Given the description of an element on the screen output the (x, y) to click on. 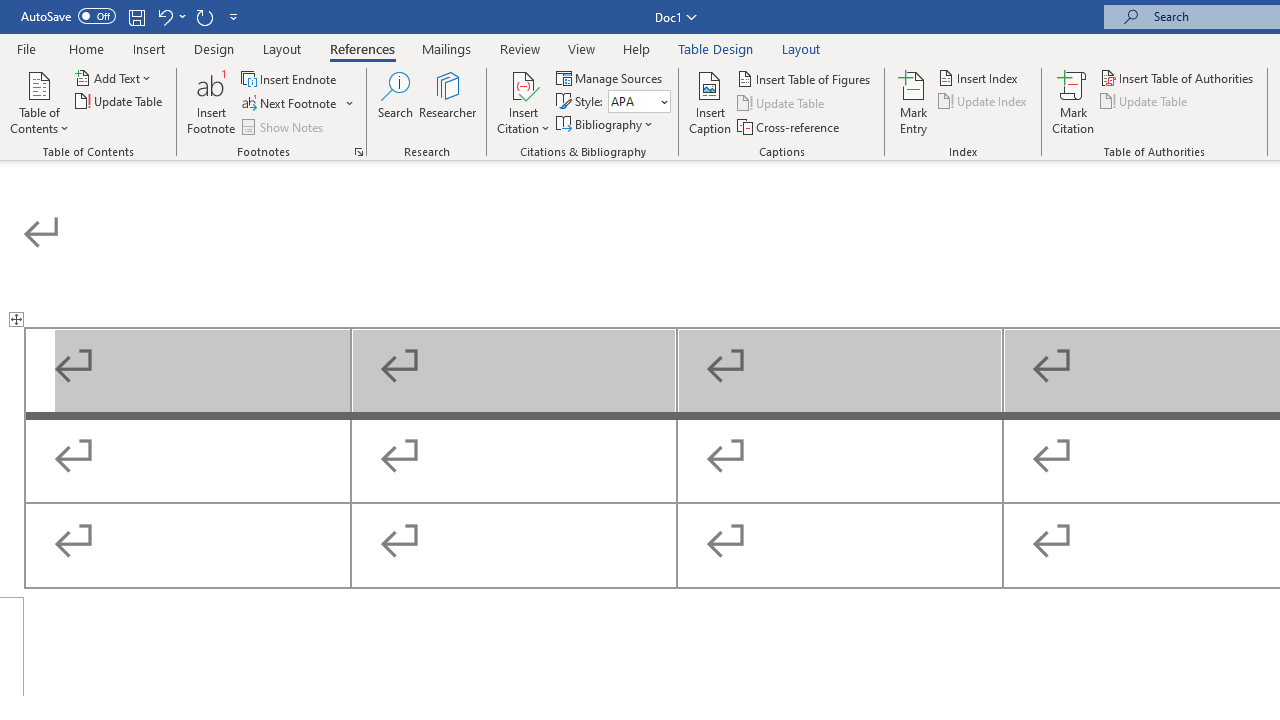
Mark Entry... (913, 102)
Next Footnote (290, 103)
Table Design (715, 48)
Repeat Doc Close (204, 15)
Next Footnote (298, 103)
Style (632, 101)
Insert Citation (523, 102)
Insert Footnote (211, 102)
